Given the description of an element on the screen output the (x, y) to click on. 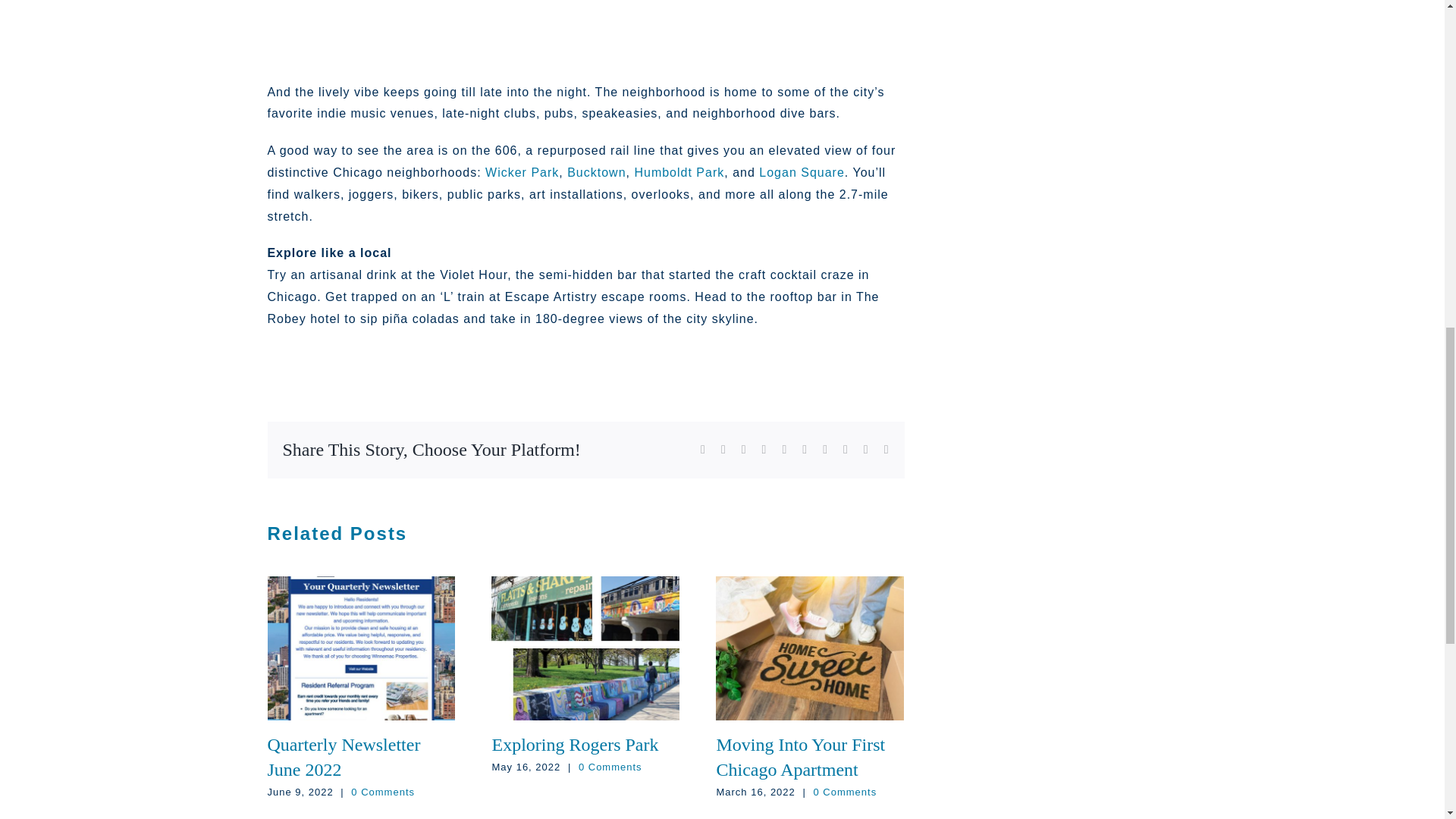
Quarterly Newsletter June 2022 (343, 756)
Exploring Rogers Park (575, 744)
Moving Into Your First Chicago Apartment (800, 756)
